Given the description of an element on the screen output the (x, y) to click on. 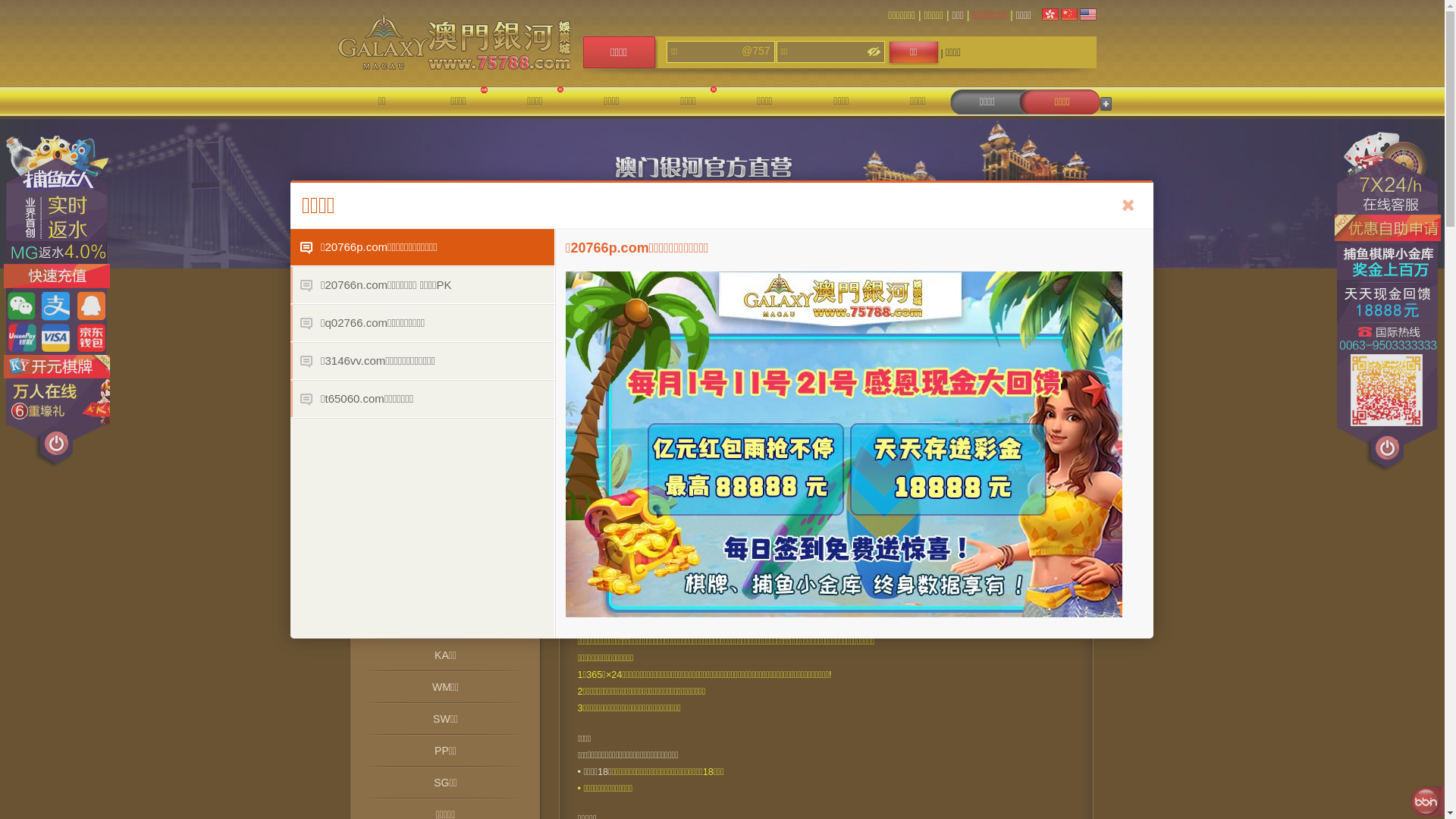
English Element type: hover (1087, 14)
